Given the description of an element on the screen output the (x, y) to click on. 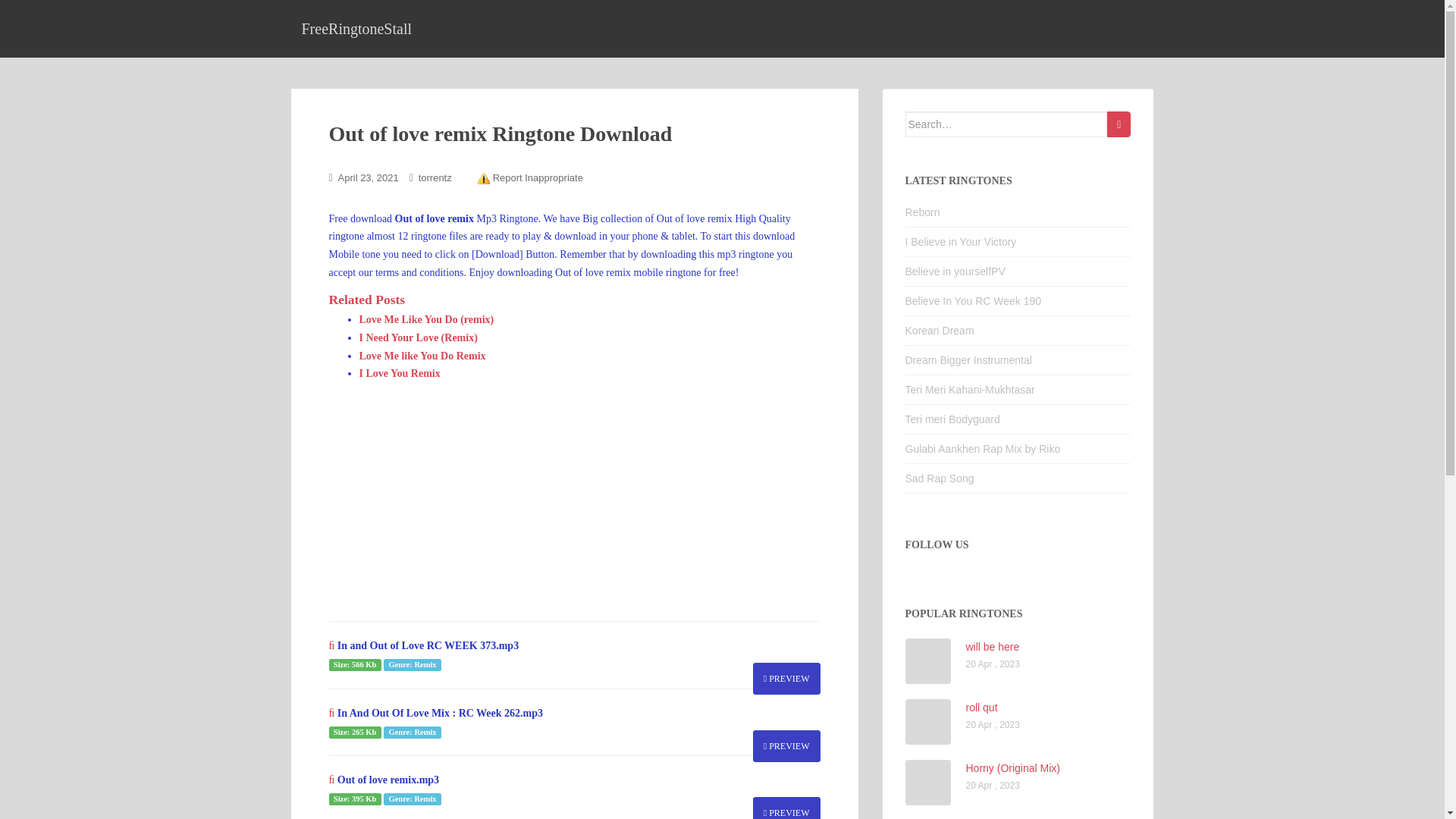
April 23, 2021 (367, 177)
Search (1118, 124)
FreeRingtoneStall (356, 28)
FreeRingtoneStall (356, 28)
will be here (993, 646)
Reborn (922, 212)
Korean Dream (939, 330)
Dream Bigger Instrumental (968, 359)
I Love You Remix (400, 373)
In and Out of Love RC WEEK 373 (786, 678)
